Given the description of an element on the screen output the (x, y) to click on. 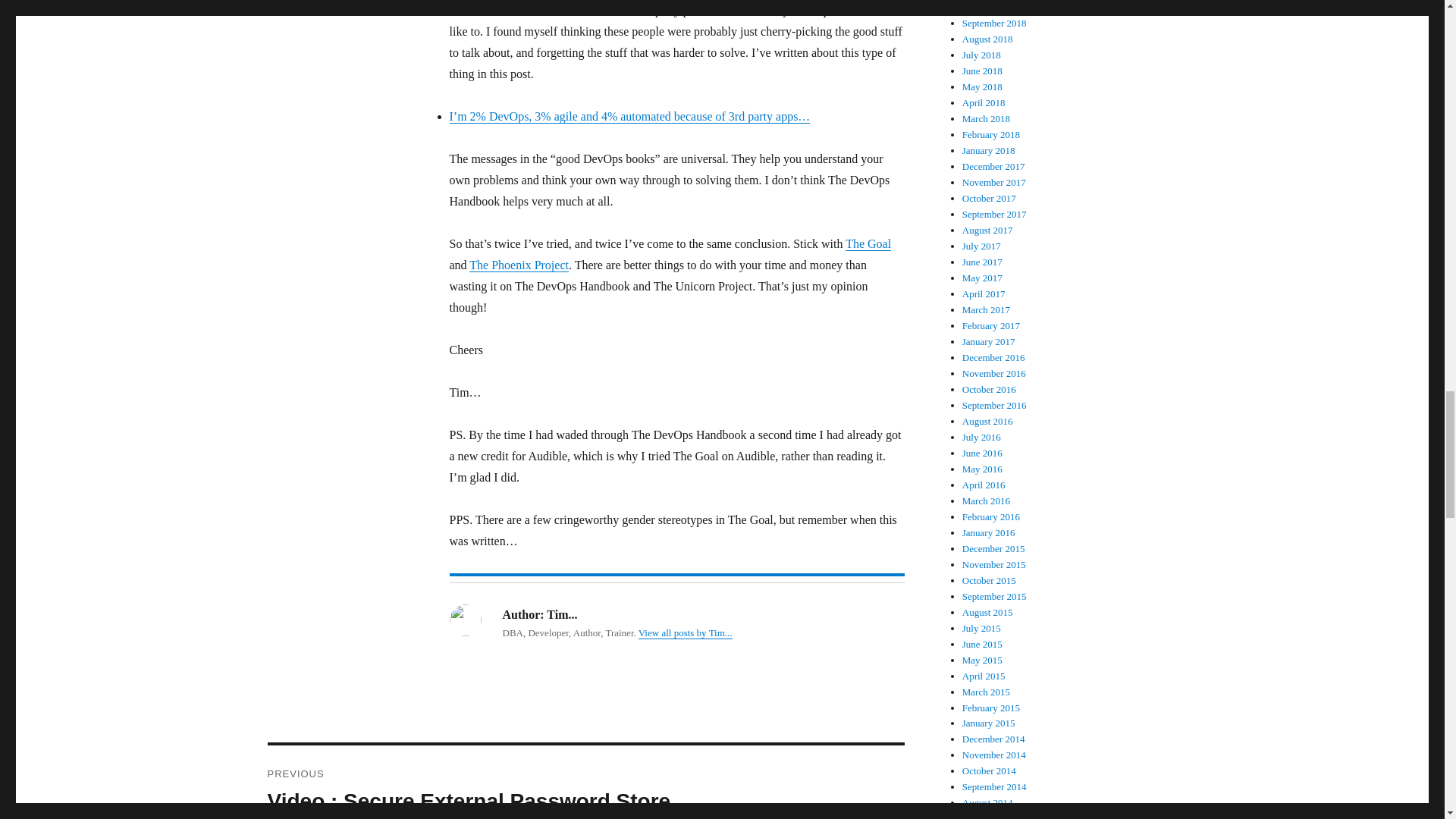
The Goal (868, 243)
The Phoenix Project (518, 264)
View all posts by Tim... (685, 632)
